Given the description of an element on the screen output the (x, y) to click on. 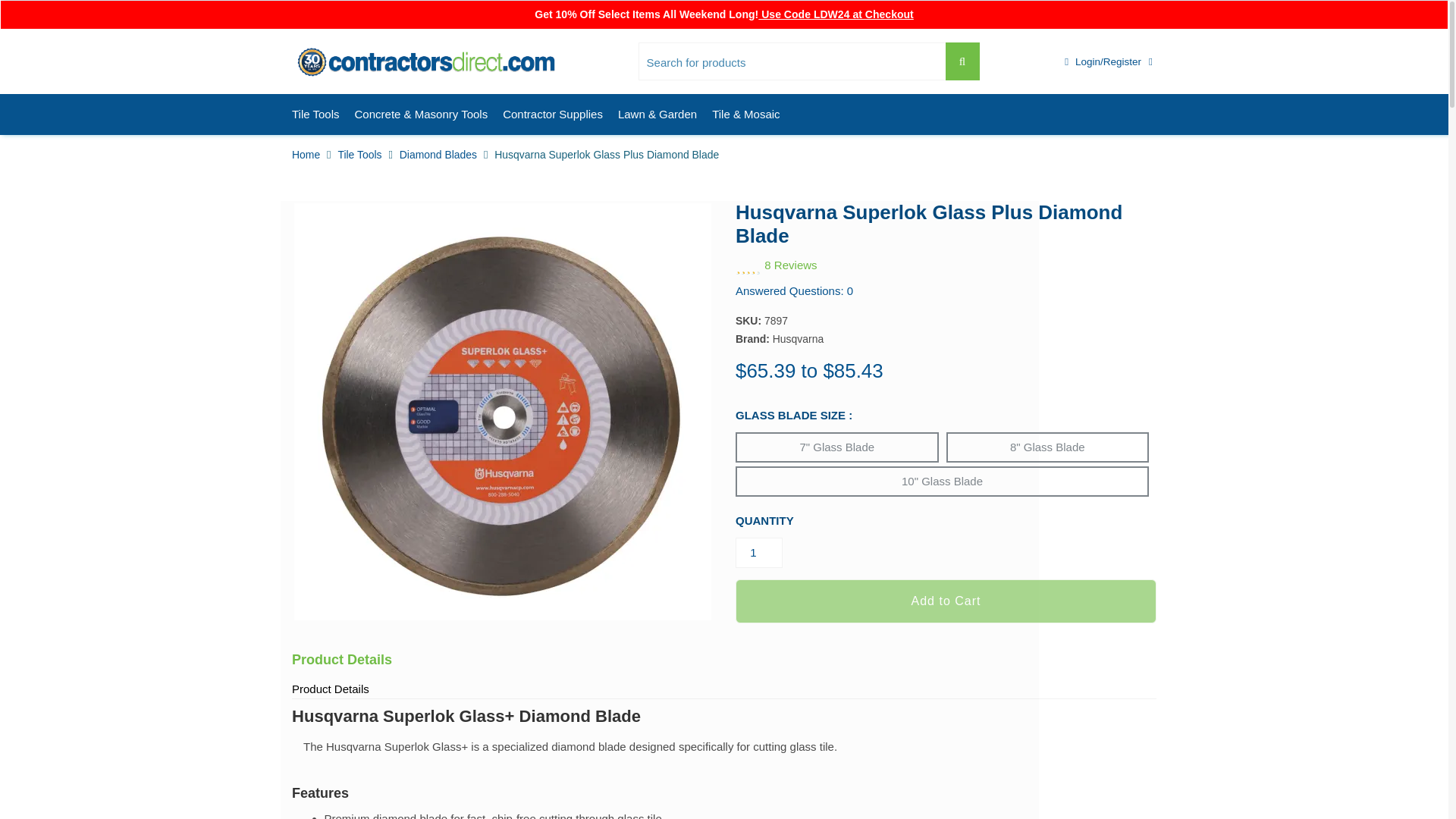
Tile Tools (315, 114)
1 (759, 552)
Contractors Direct (426, 61)
